Given the description of an element on the screen output the (x, y) to click on. 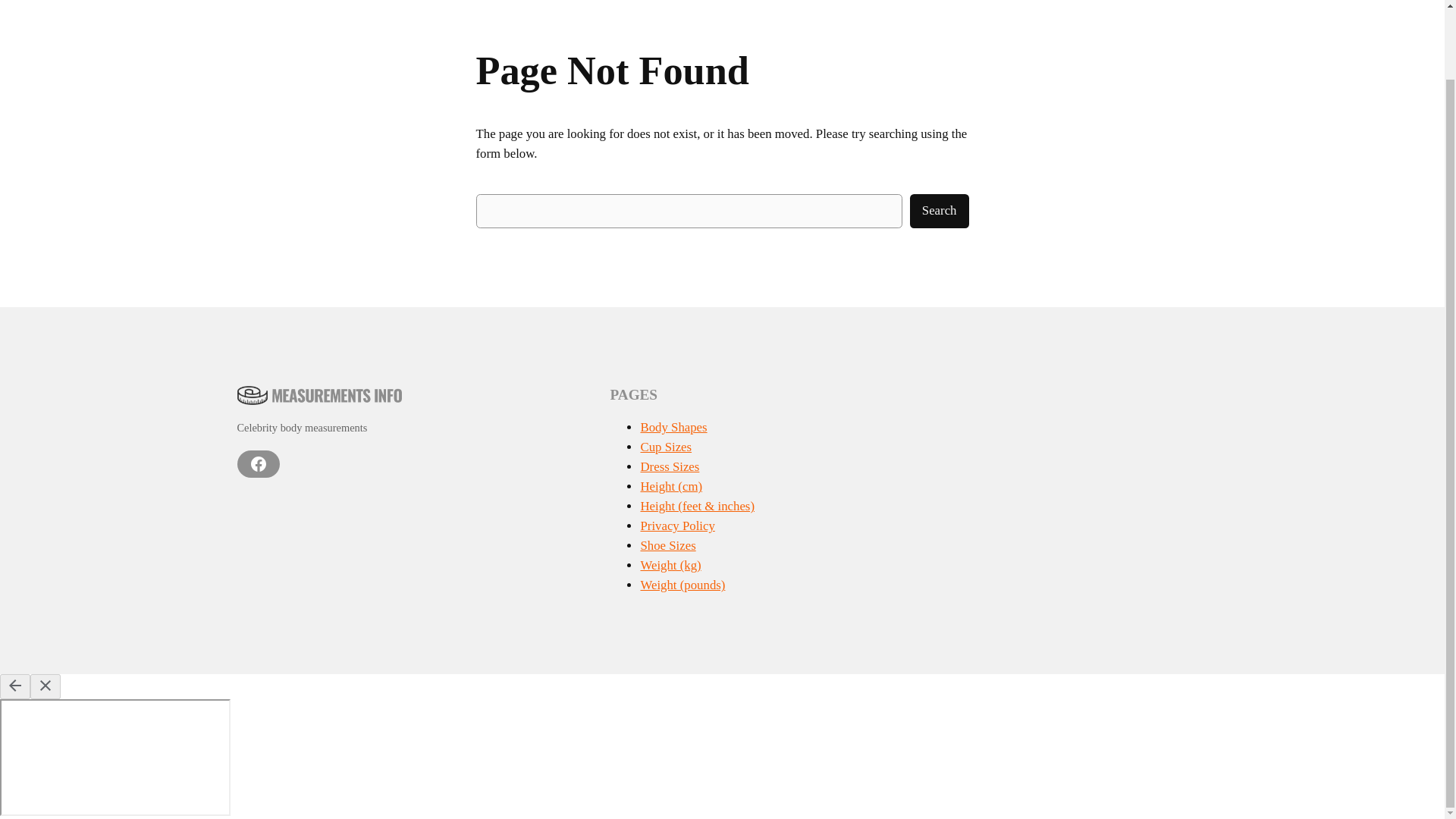
Body Shapes (673, 427)
Privacy Policy (677, 525)
Dress Sizes (669, 466)
Facebook (257, 463)
Shoe Sizes (667, 545)
Search (939, 211)
Cup Sizes (665, 446)
